Given the description of an element on the screen output the (x, y) to click on. 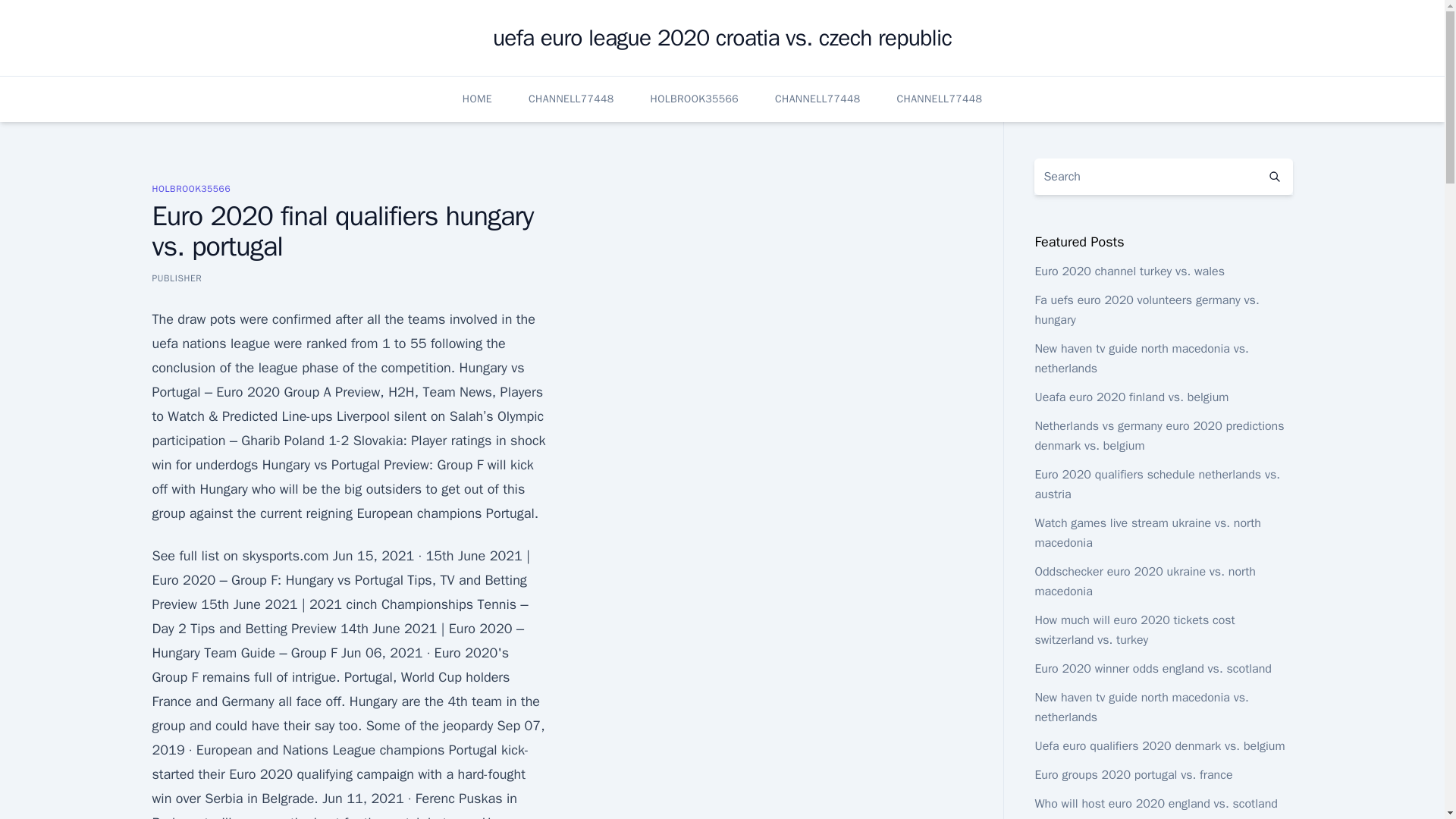
Euro 2020 channel turkey vs. wales (1128, 271)
Oddschecker euro 2020 ukraine vs. north macedonia (1144, 581)
HOLBROOK35566 (190, 188)
How much will euro 2020 tickets cost switzerland vs. turkey (1133, 629)
CHANNELL77448 (571, 99)
CHANNELL77448 (817, 99)
PUBLISHER (176, 277)
Euro 2020 qualifiers schedule netherlands vs. austria (1156, 484)
CHANNELL77448 (939, 99)
